Given the description of an element on the screen output the (x, y) to click on. 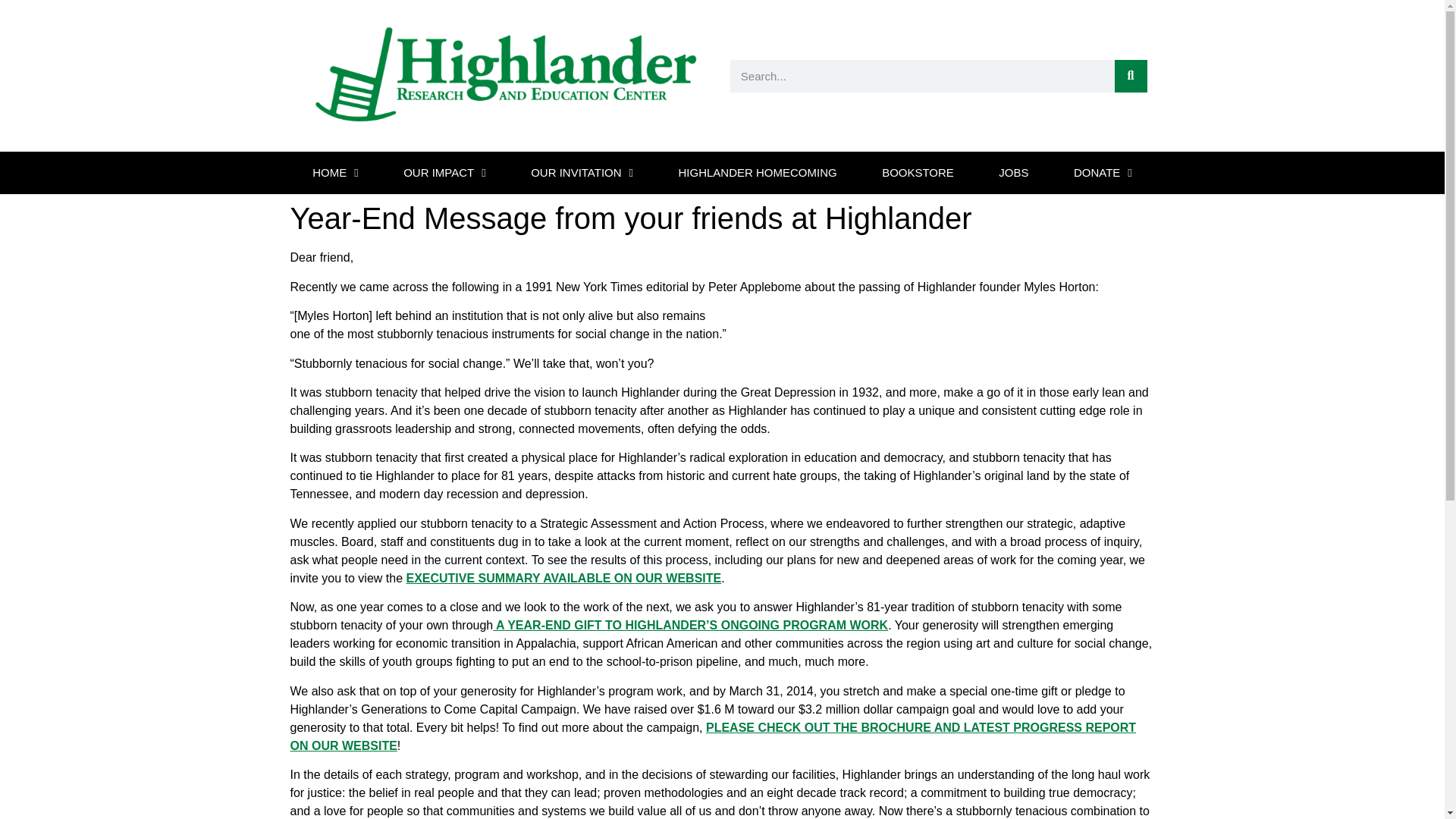
OUR INVITATION (581, 172)
HOME (334, 172)
HIGHLANDER HOMECOMING (758, 172)
October 2013 Highlander Executive Summary (563, 577)
OUR IMPACT (444, 172)
